Given the description of an element on the screen output the (x, y) to click on. 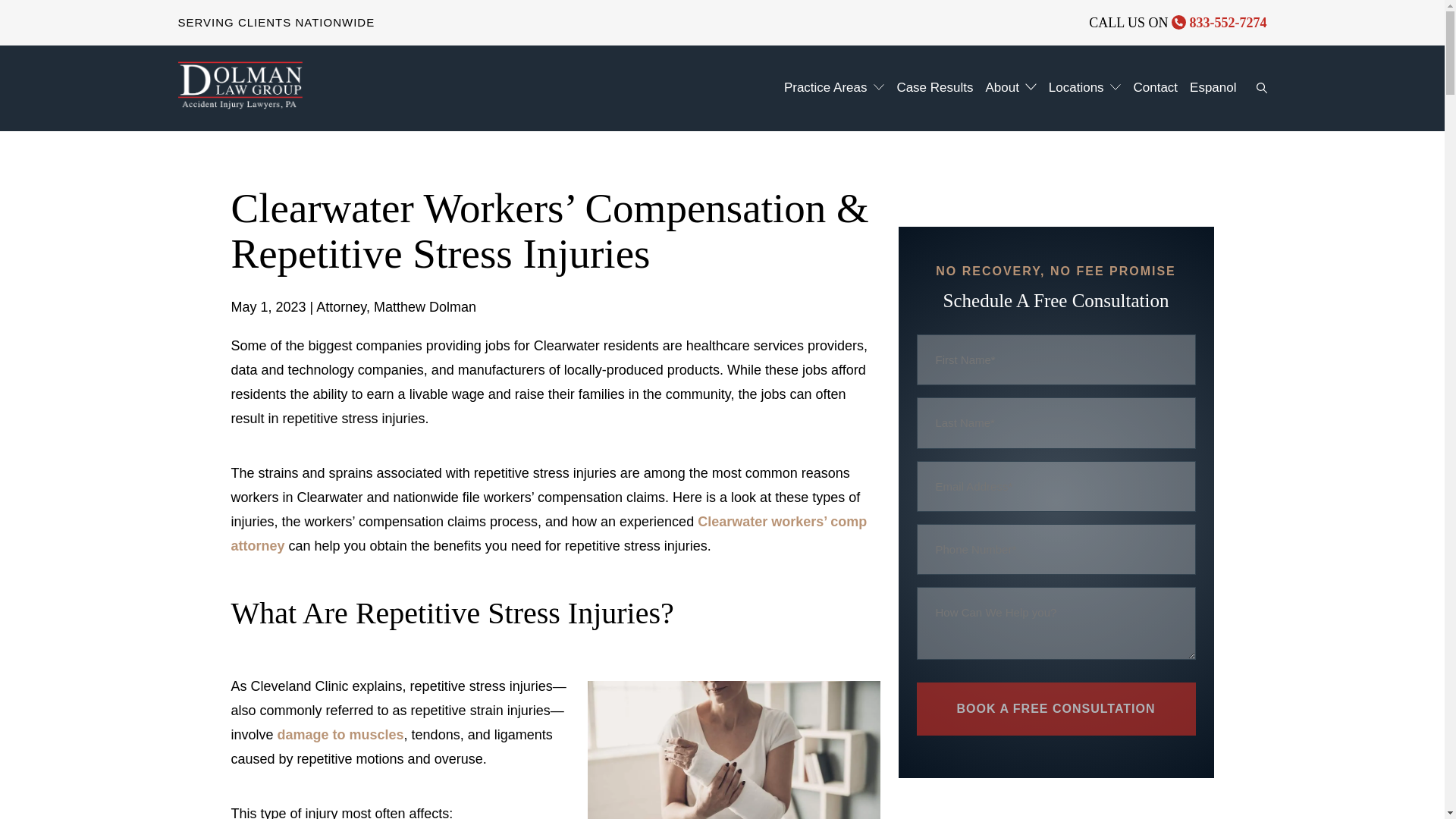
Practice Areas (822, 87)
833-552-7274 (1219, 22)
About (999, 87)
Case Results (933, 87)
